Given the description of an element on the screen output the (x, y) to click on. 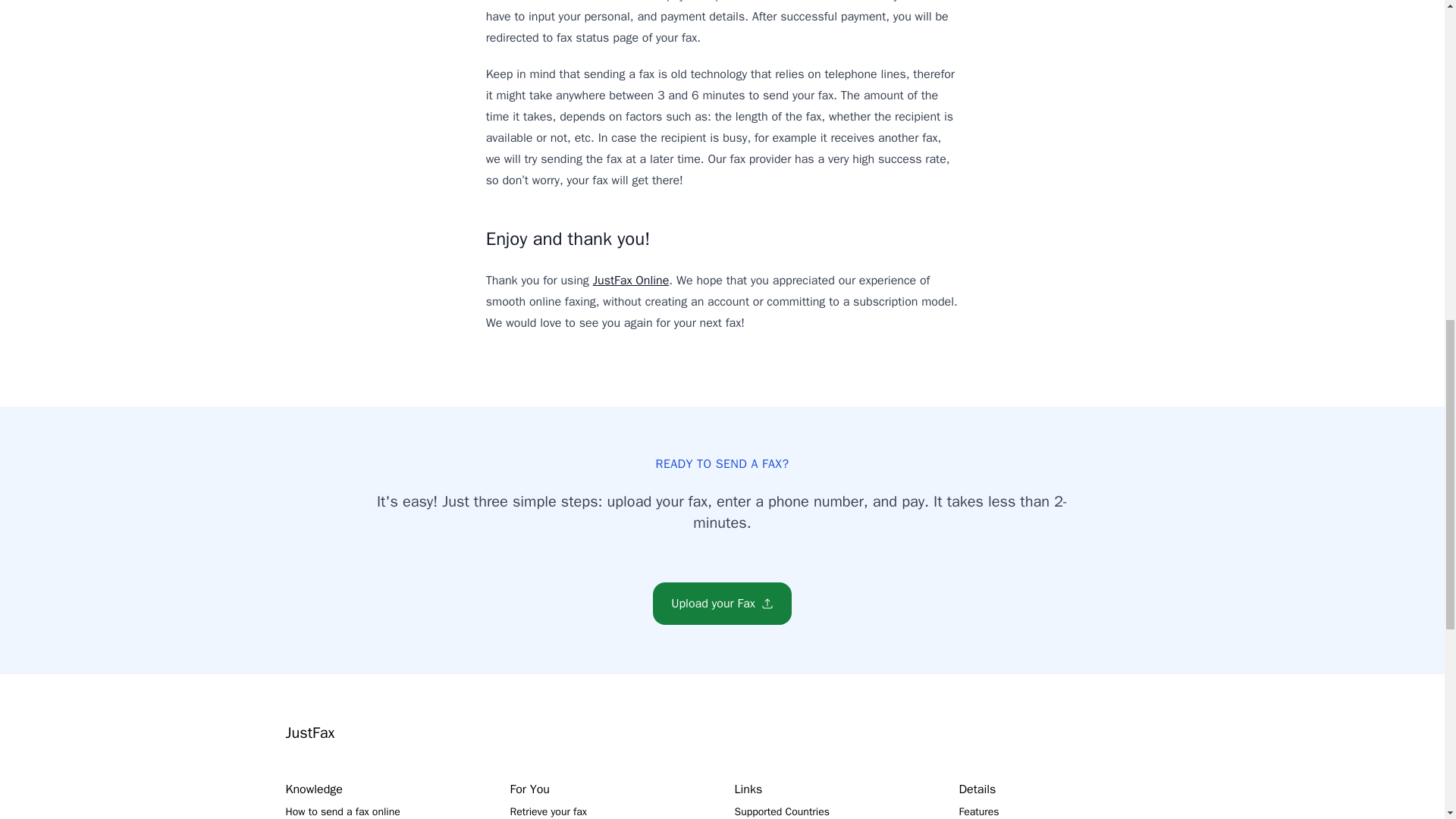
Upload your Fax (722, 603)
JustFax (309, 732)
Retrieve your fax (547, 811)
How to send a fax online (341, 811)
JustFax Online (630, 280)
Supported Countries (781, 811)
Features (978, 811)
